Given the description of an element on the screen output the (x, y) to click on. 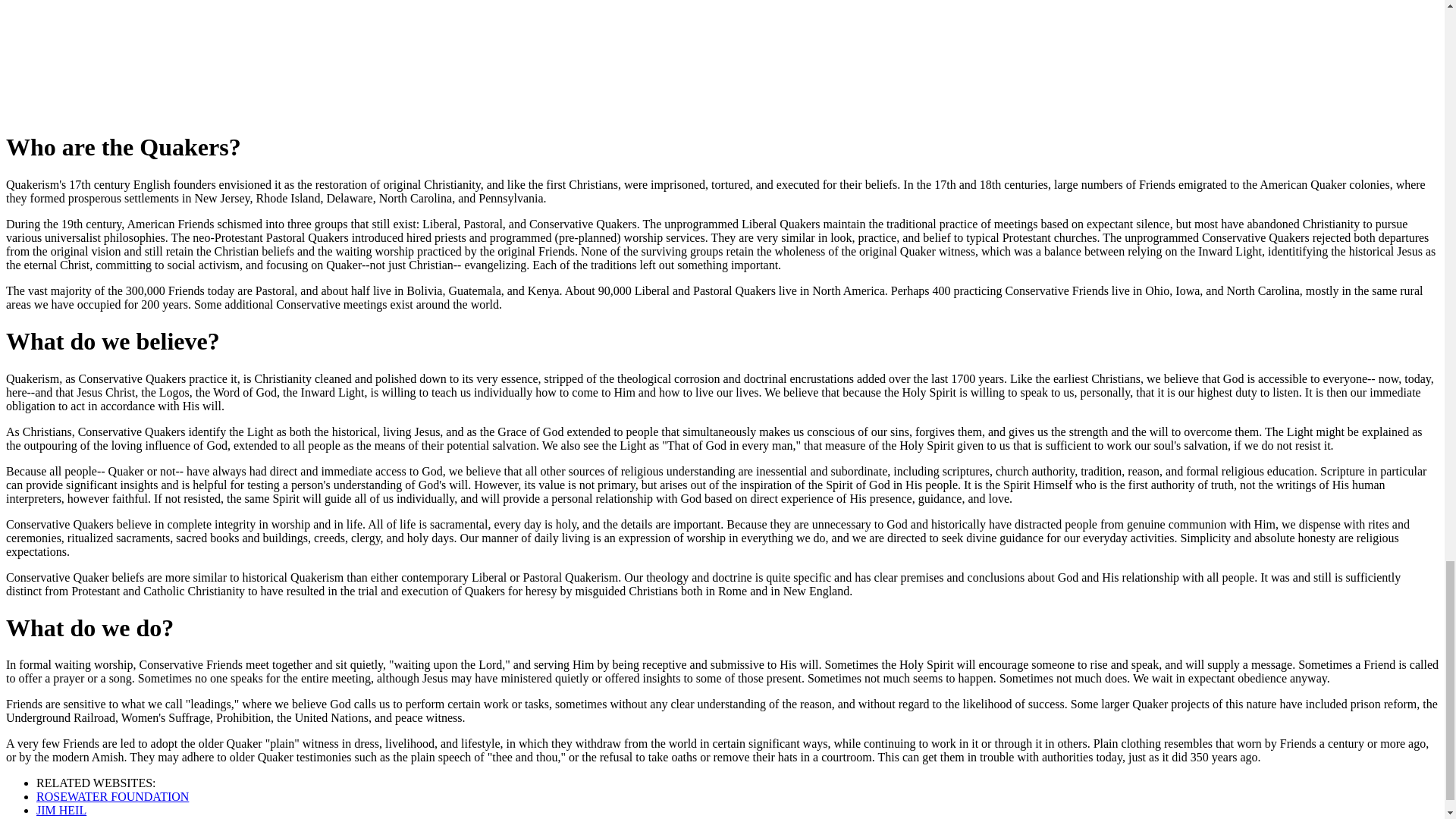
YouTube video player (217, 57)
ROSEWATER FOUNDATION (112, 796)
JIM HEIL (60, 809)
